Given the description of an element on the screen output the (x, y) to click on. 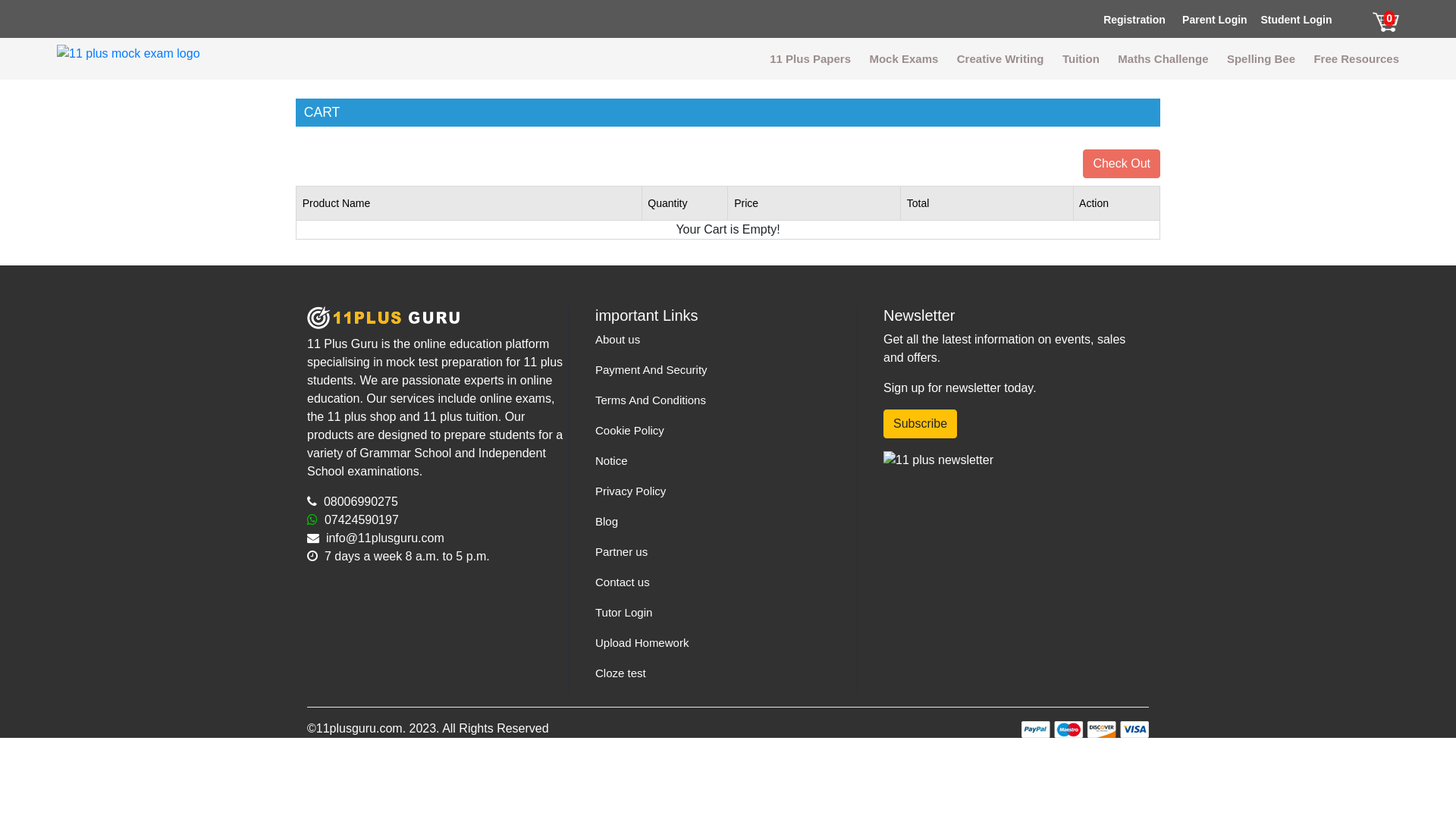
Maths Challenge Element type: text (1162, 58)
Creative Writing Element type: text (1000, 58)
Mock Exams Element type: text (903, 58)
Student Login Element type: text (1295, 19)
Cloze test Element type: text (620, 672)
Free Resources Element type: text (1356, 58)
Registration Element type: text (1134, 19)
Spelling Bee Element type: text (1260, 58)
Payment And Security Element type: text (651, 369)
0 Element type: text (1385, 20)
Tutor Login Element type: text (623, 611)
Subscribe Element type: text (920, 423)
11 Plus Papers Element type: text (809, 58)
Partner us Element type: text (621, 551)
Notice Element type: text (611, 460)
Contact us Element type: text (622, 581)
Blog Element type: text (606, 520)
Tuition Element type: text (1080, 58)
11 plus tutor Element type: hover (128, 52)
Terms And Conditions Element type: text (650, 399)
Upload Homework Element type: text (641, 642)
Cookie Policy Element type: text (629, 429)
Privacy Policy Element type: text (630, 490)
Check Out Element type: text (1121, 163)
Parent Login Element type: text (1214, 19)
About us Element type: text (617, 338)
